Given the description of an element on the screen output the (x, y) to click on. 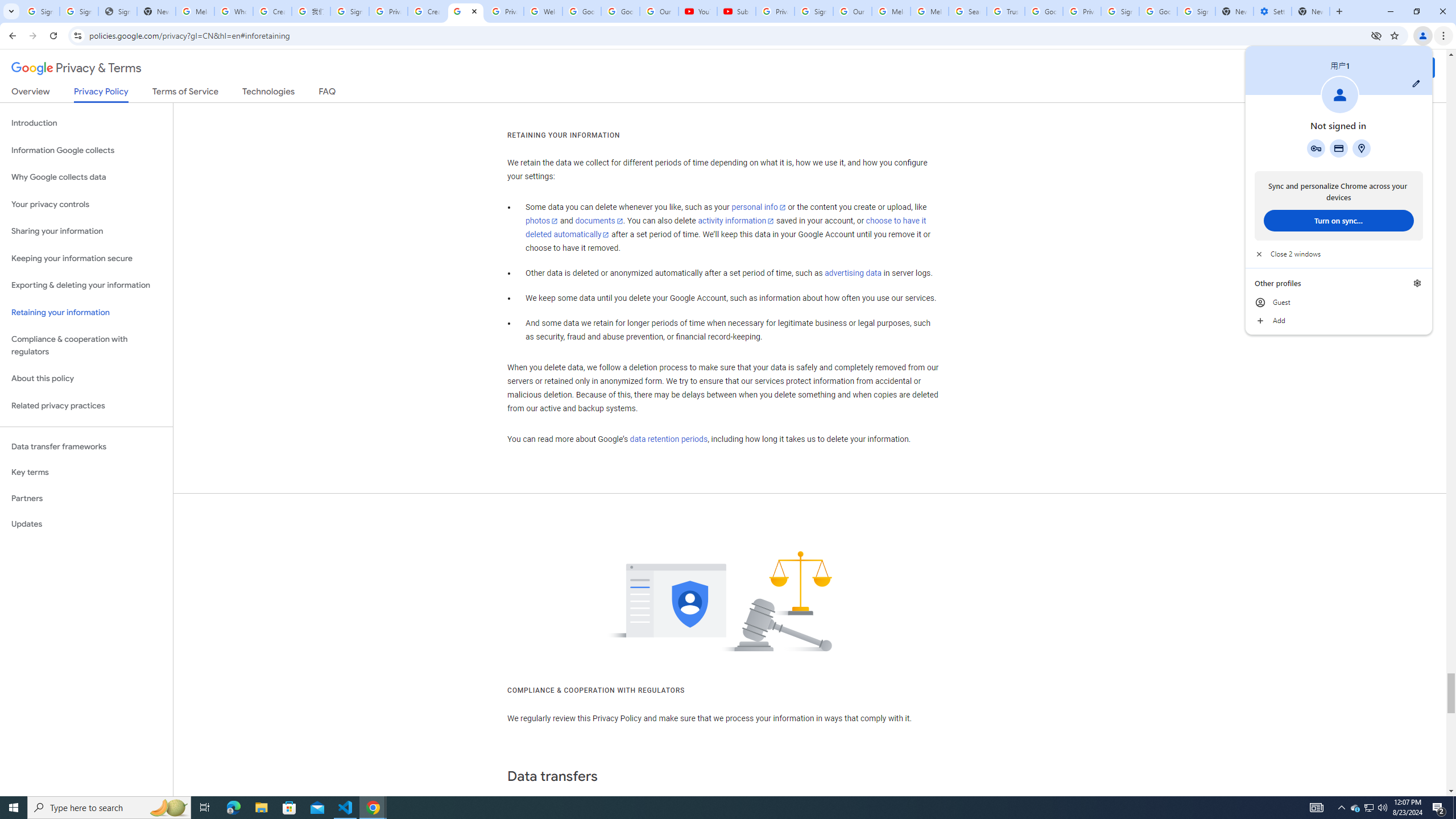
Google Ads - Sign in (1043, 11)
New Tab (1311, 11)
Subscriptions - YouTube (736, 11)
Sign in - Google Accounts (349, 11)
Action Center, 2 new notifications (1439, 807)
Compliance & cooperation with regulators (86, 345)
Customize profile (1415, 83)
Payment methods (1338, 148)
